Given the description of an element on the screen output the (x, y) to click on. 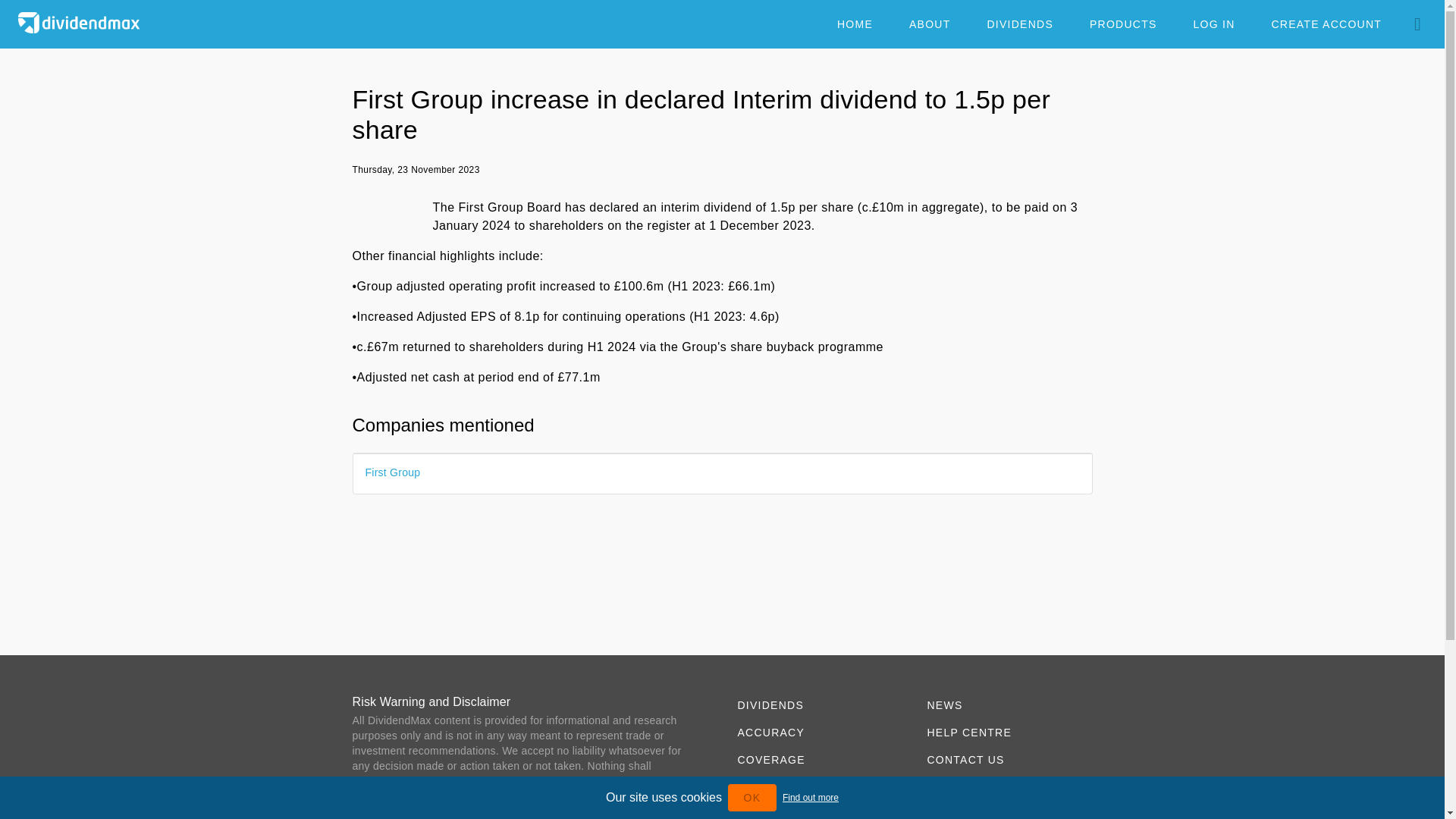
COVERAGE (816, 759)
ABOUT (929, 24)
TUTORIAL (1006, 786)
Find out more (810, 797)
NEWS (1006, 705)
CREATE ACCOUNT (1325, 24)
LOG IN (1213, 24)
PRODUCTS (816, 786)
DIVIDENDS (1019, 24)
OK (752, 797)
